Given the description of an element on the screen output the (x, y) to click on. 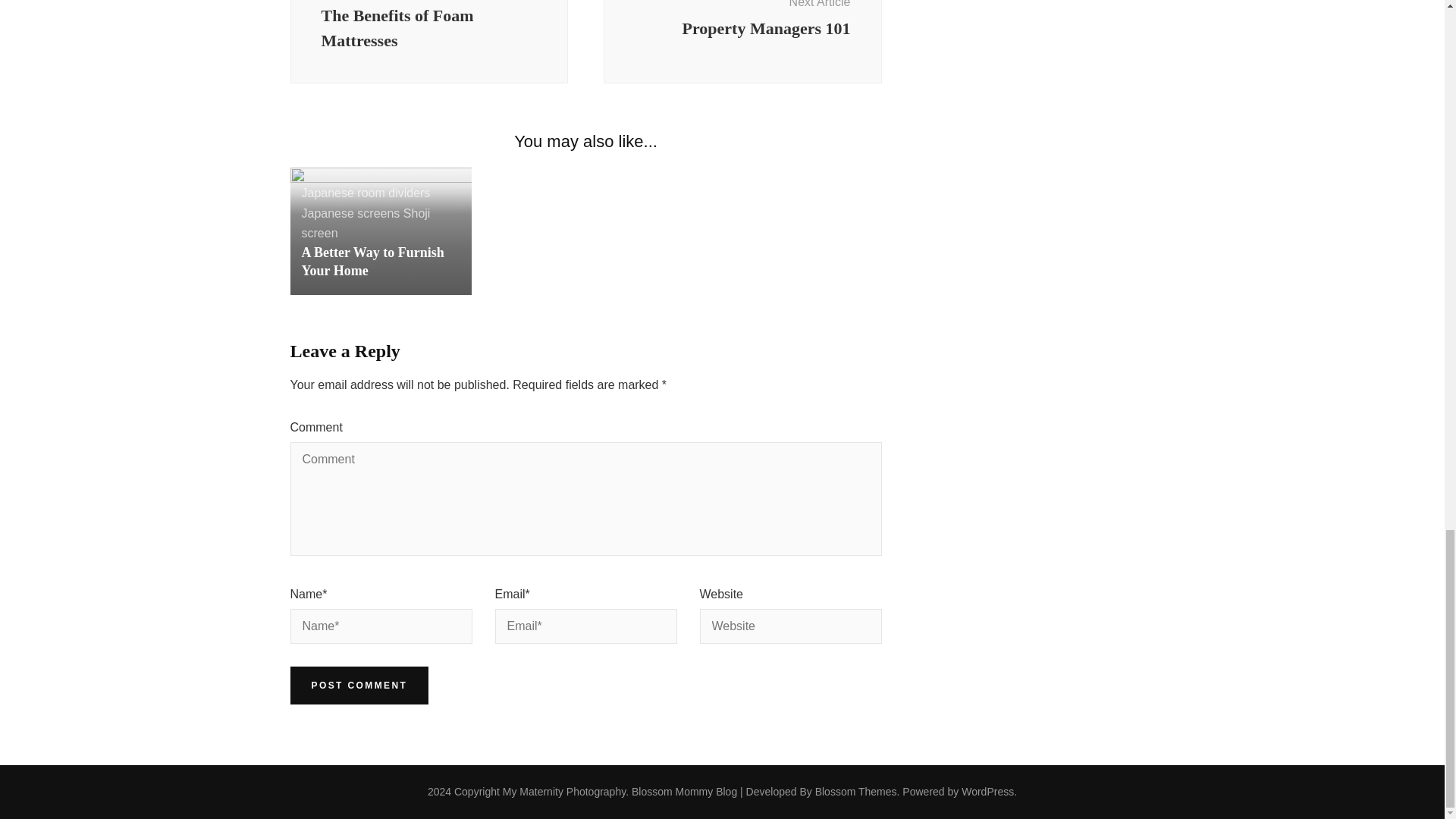
My Maternity Photography (564, 791)
A Better Way to Furnish Your Home (372, 261)
Japanese room dividers (428, 41)
Japanese screens (365, 192)
Shoji screen (350, 213)
Post Comment (365, 223)
Post Comment (358, 685)
WordPress (743, 41)
